Given the description of an element on the screen output the (x, y) to click on. 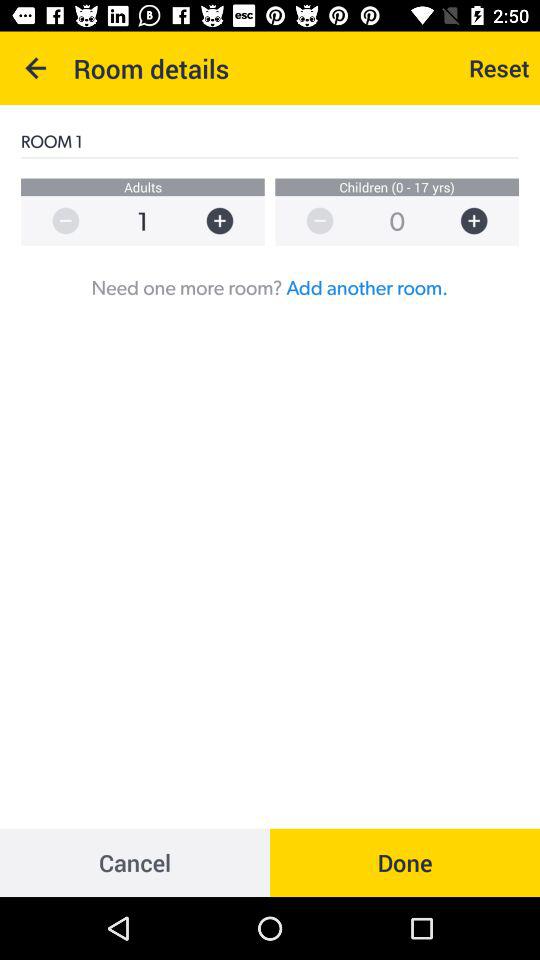
tap the item next to the cancel (405, 862)
